Given the description of an element on the screen output the (x, y) to click on. 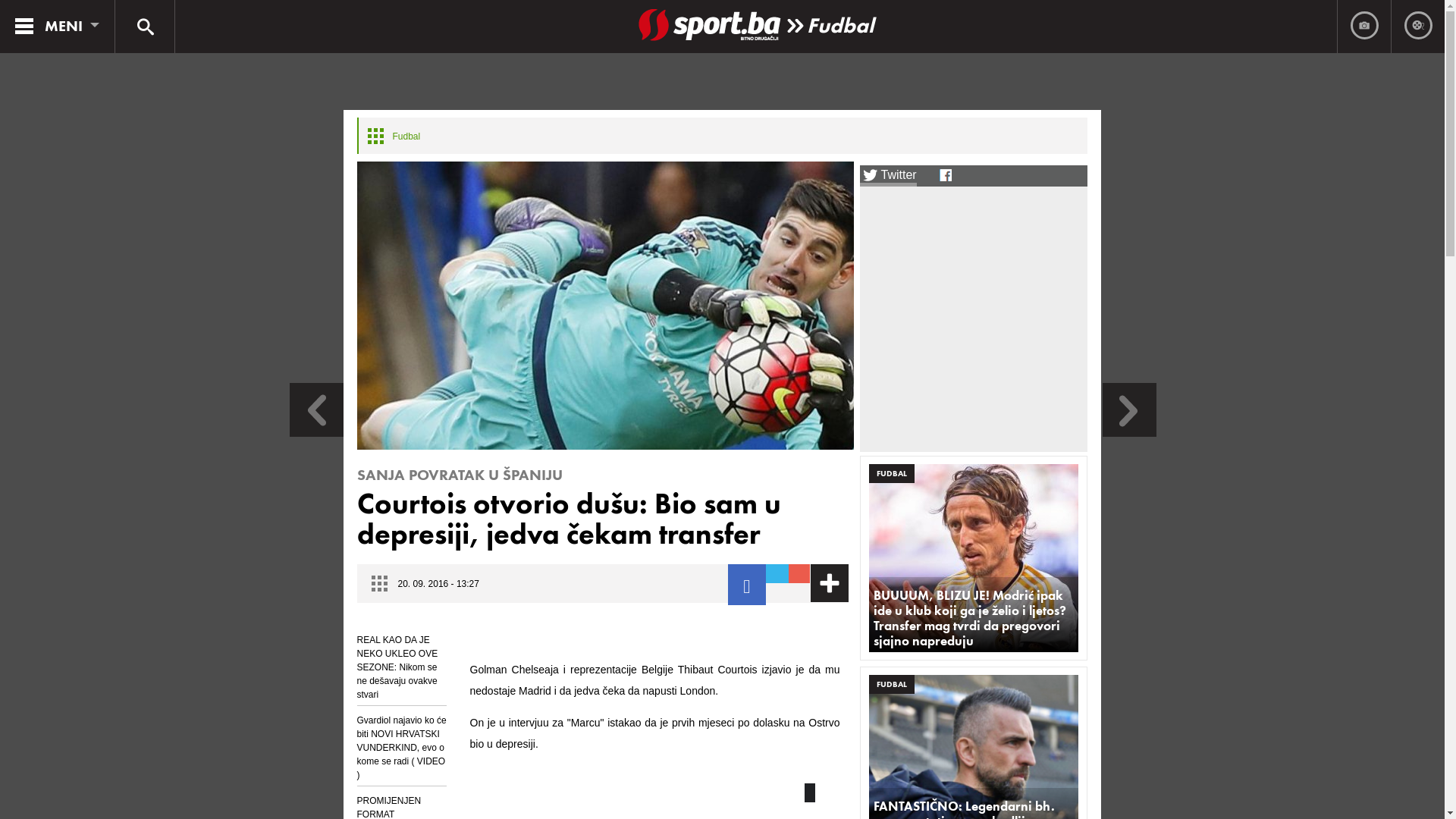
FUDBAL Element type: text (891, 683)
Fudbal Element type: text (839, 24)
Fudbal Element type: text (406, 136)
FUDBAL Element type: text (891, 472)
